Given the description of an element on the screen output the (x, y) to click on. 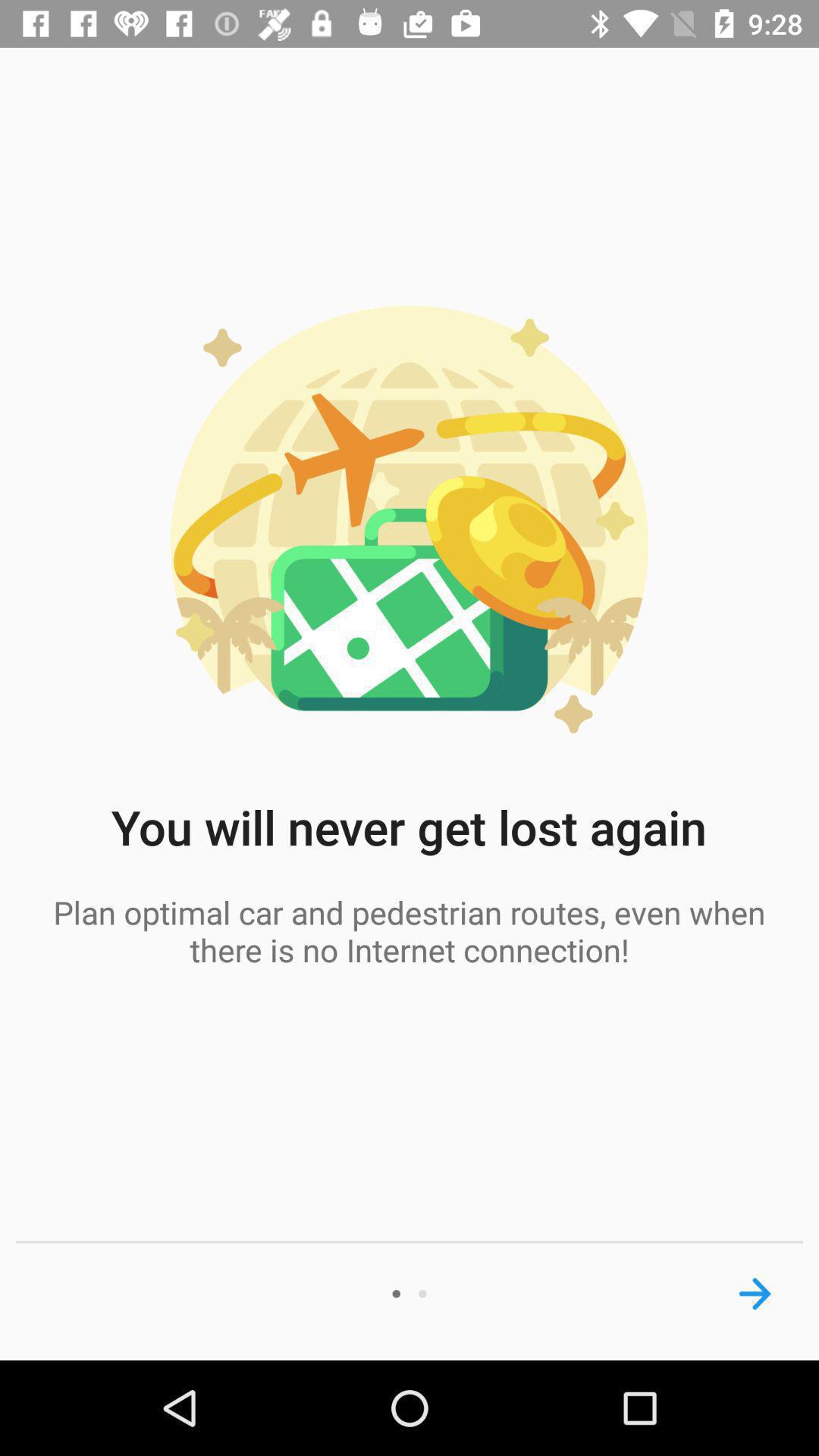
next page (755, 1293)
